Given the description of an element on the screen output the (x, y) to click on. 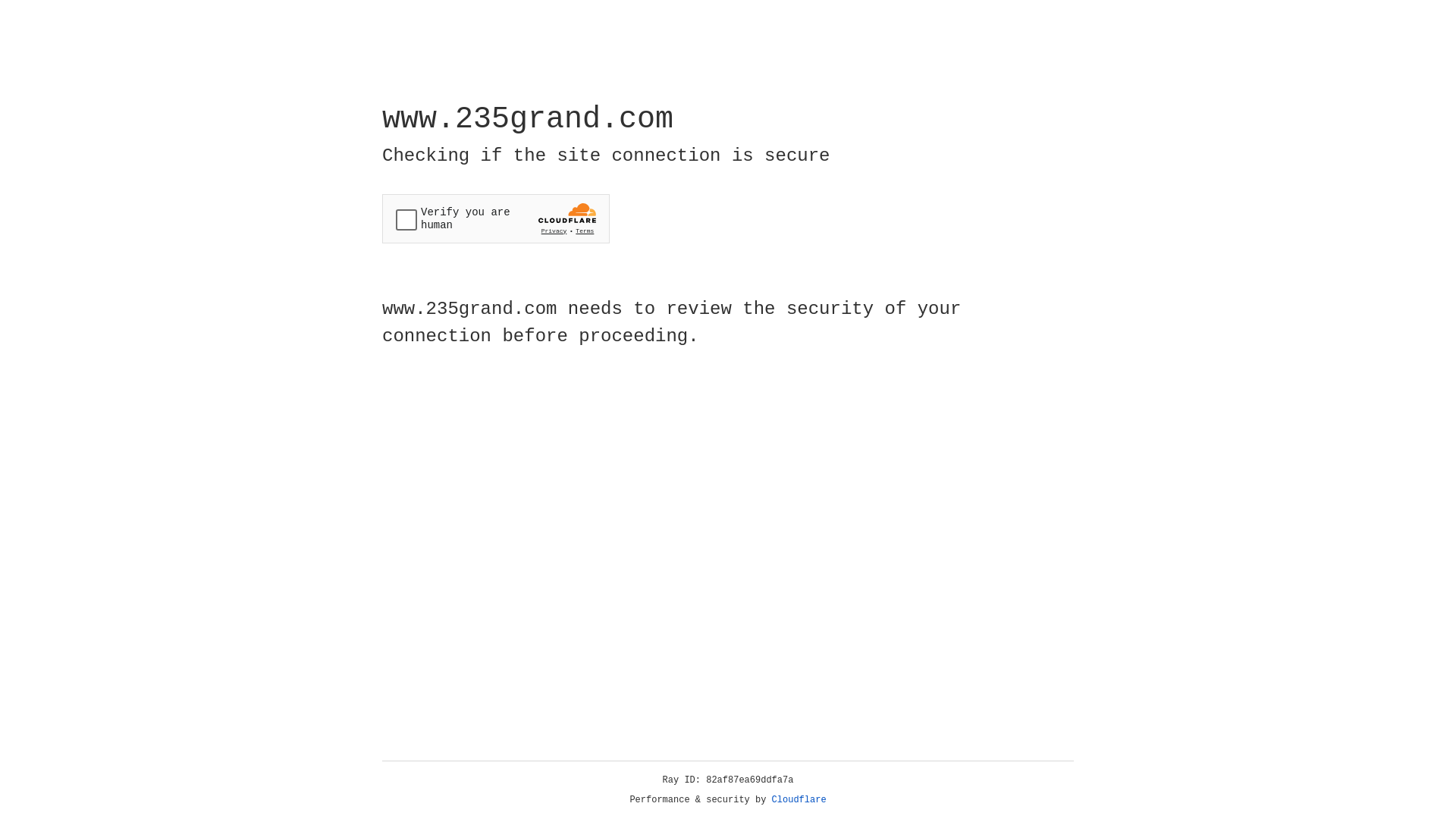
Widget containing a Cloudflare security challenge Element type: hover (495, 218)
Cloudflare Element type: text (798, 799)
